Given the description of an element on the screen output the (x, y) to click on. 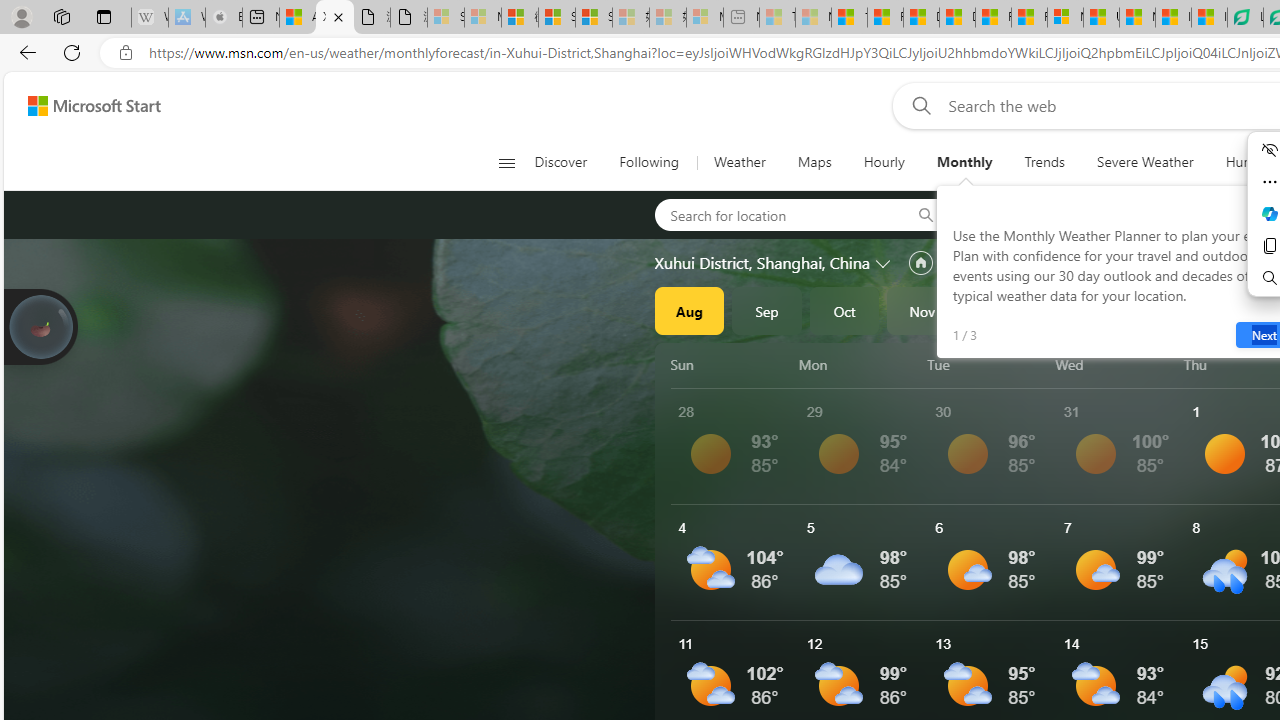
Weather (739, 162)
Drinking tea every day is proven to delay biological aging (957, 17)
2025 Jan (1077, 310)
Mar (1233, 310)
Aug (689, 310)
Microsoft Services Agreement - Sleeping (482, 17)
Buy iPad - Apple - Sleeping (223, 17)
Monthly (964, 162)
Oct (844, 310)
Sep (767, 310)
